Given the description of an element on the screen output the (x, y) to click on. 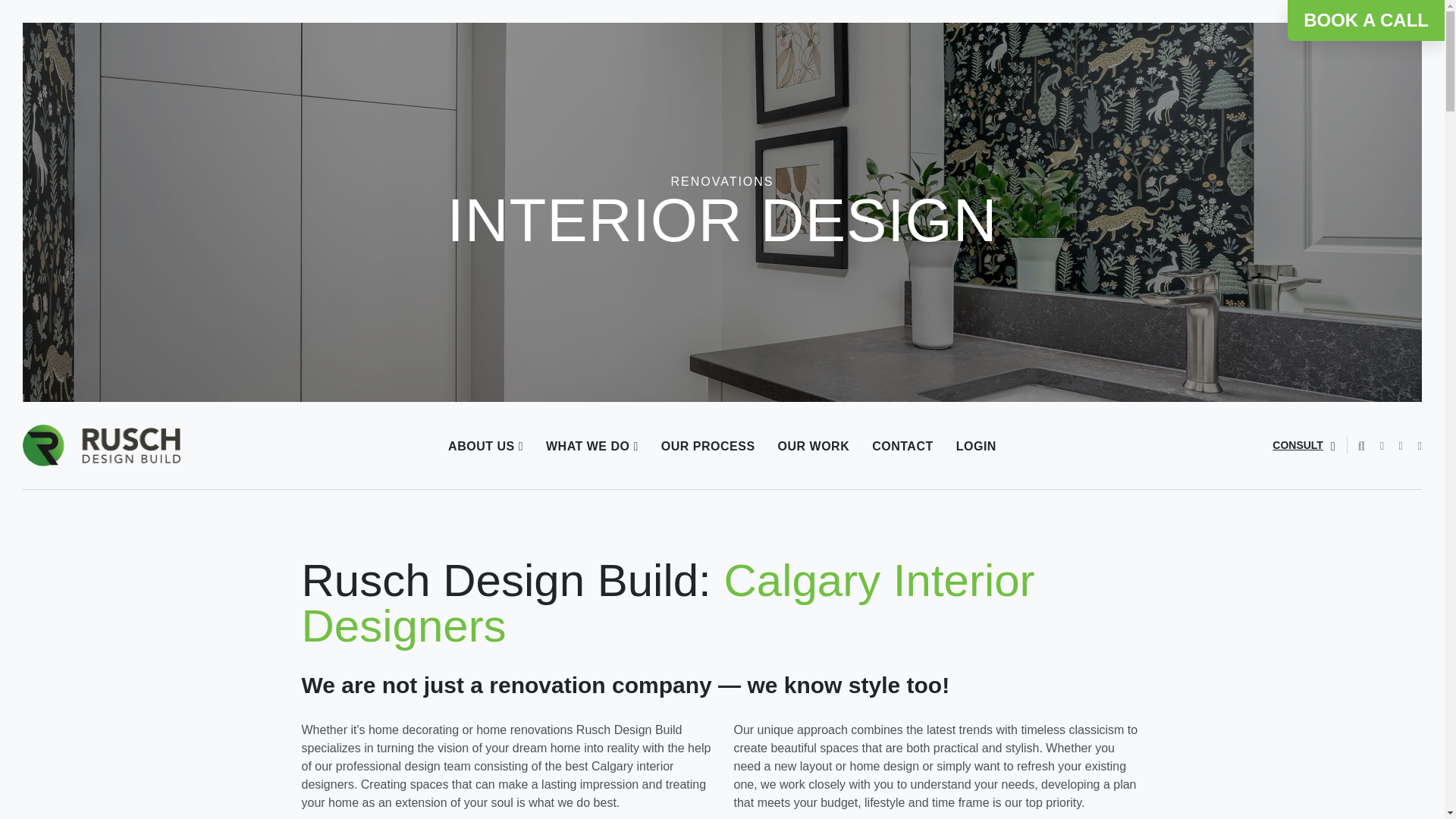
Careers (565, 504)
Exteriors (657, 504)
Kitchens (662, 504)
WHAT WE DO (592, 445)
Testimonials (569, 504)
Rusch Design Build Logo (101, 444)
Heritage Services (671, 504)
OUR PROCESS (708, 445)
Additions (644, 504)
Latest News (553, 504)
Interior Design (635, 504)
Our Team (546, 504)
CONSULT (1303, 446)
Reno FAQ (560, 504)
Full Home Renovations (668, 504)
